Given the description of an element on the screen output the (x, y) to click on. 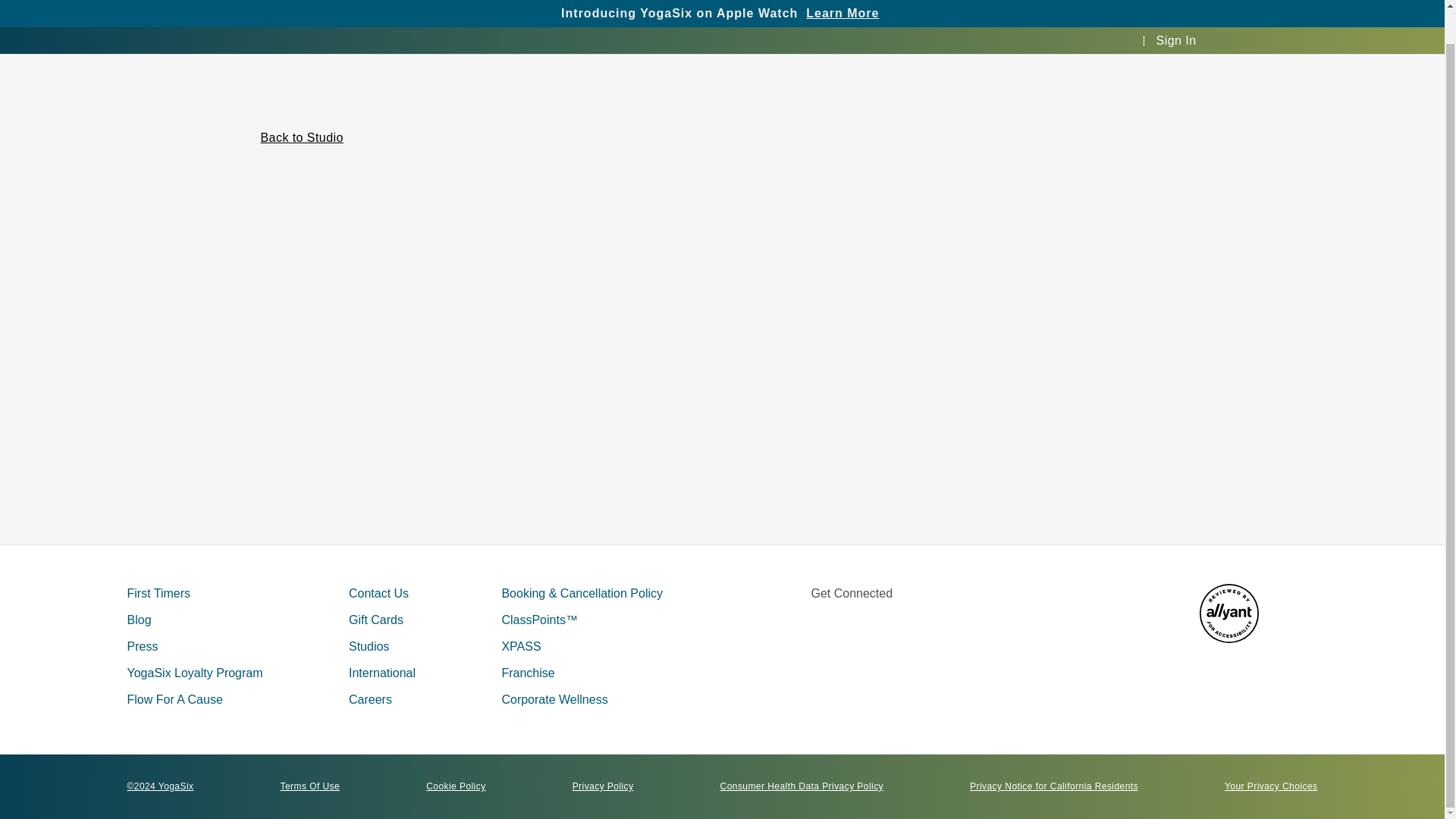
Corporate Wellness (553, 698)
Blog (139, 619)
Sign In (1176, 6)
YogaSix Loyalty Program (195, 672)
Back to Studio (301, 137)
First Timers (159, 593)
Franchise (527, 672)
Contact Us (379, 593)
Studios (368, 645)
Press (143, 645)
Flow For A Cause (175, 698)
International (381, 672)
Careers (370, 698)
XPASS (520, 645)
Gift Cards (376, 619)
